Given the description of an element on the screen output the (x, y) to click on. 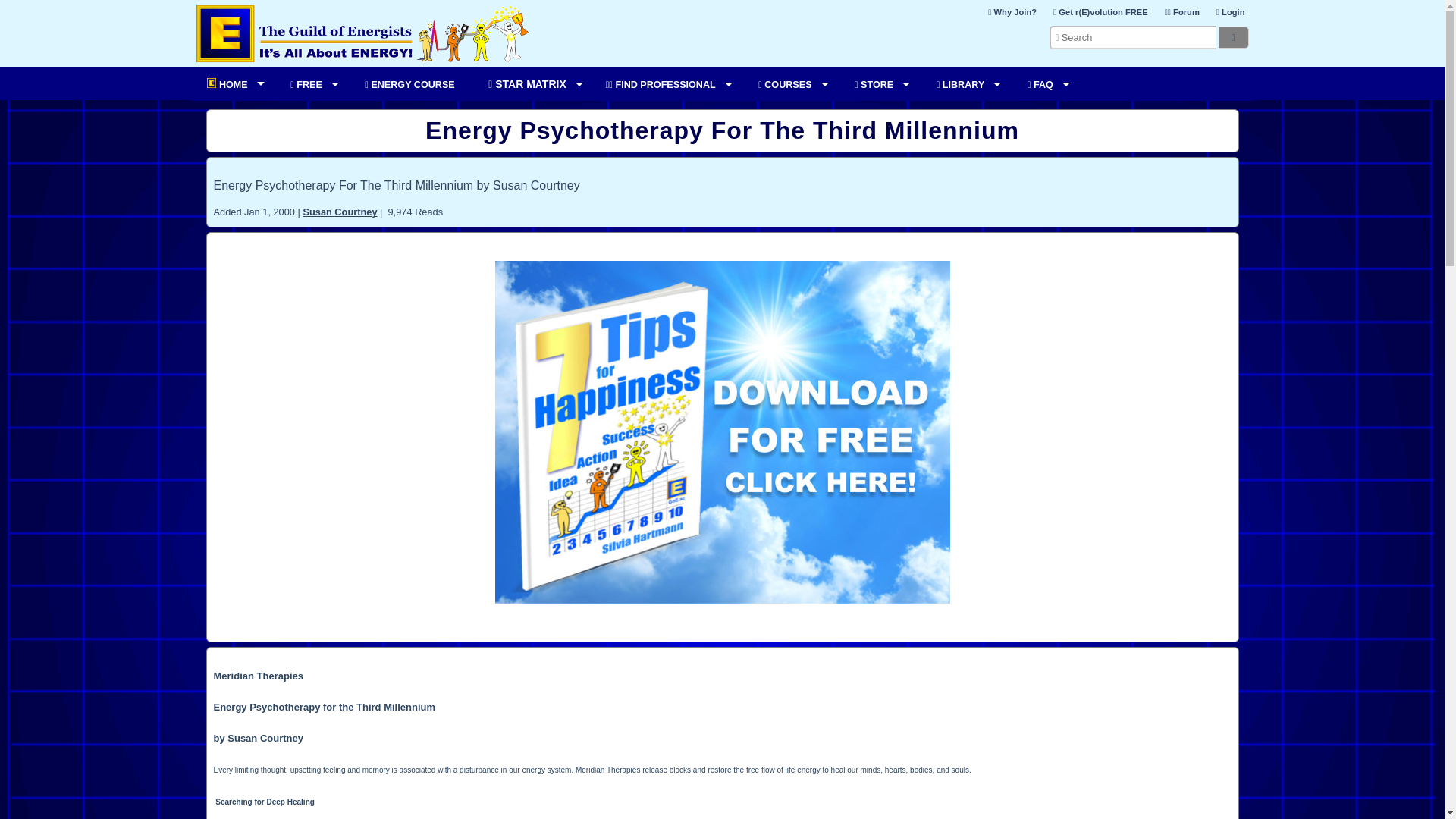
Get 7 Tips For Happiness by Silvia Hartmann Free Today! (722, 599)
 HOME (230, 83)
Why join the GoE? (1011, 11)
Forum (1181, 11)
Login to this website (1229, 11)
